Given the description of an element on the screen output the (x, y) to click on. 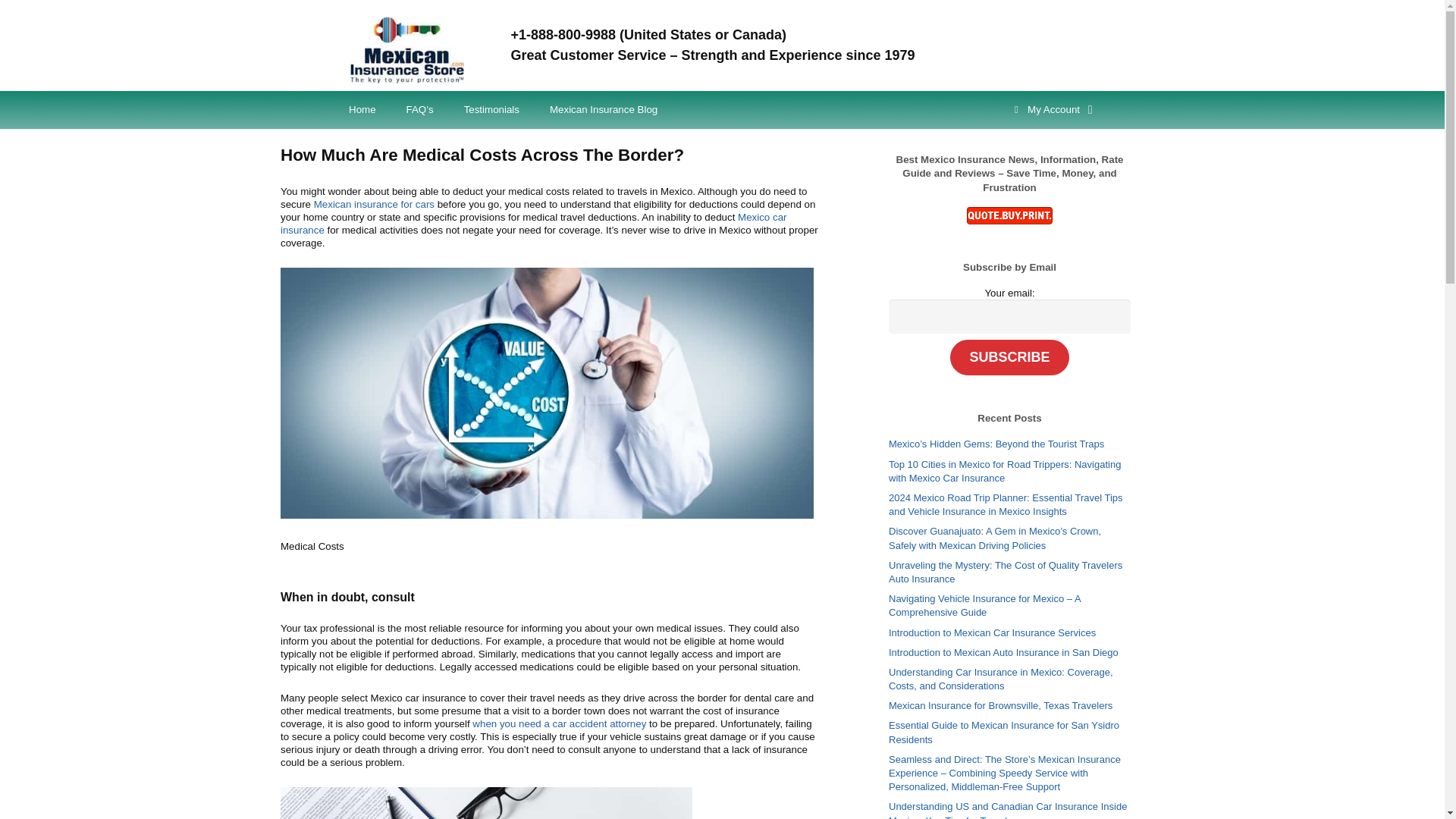
My Account (1051, 109)
Testimonials (491, 109)
Home (362, 109)
Subscribe (1009, 357)
Subscribe (1009, 357)
Mexico car insurance (533, 223)
when you need a car accident attorney (558, 723)
